Given the description of an element on the screen output the (x, y) to click on. 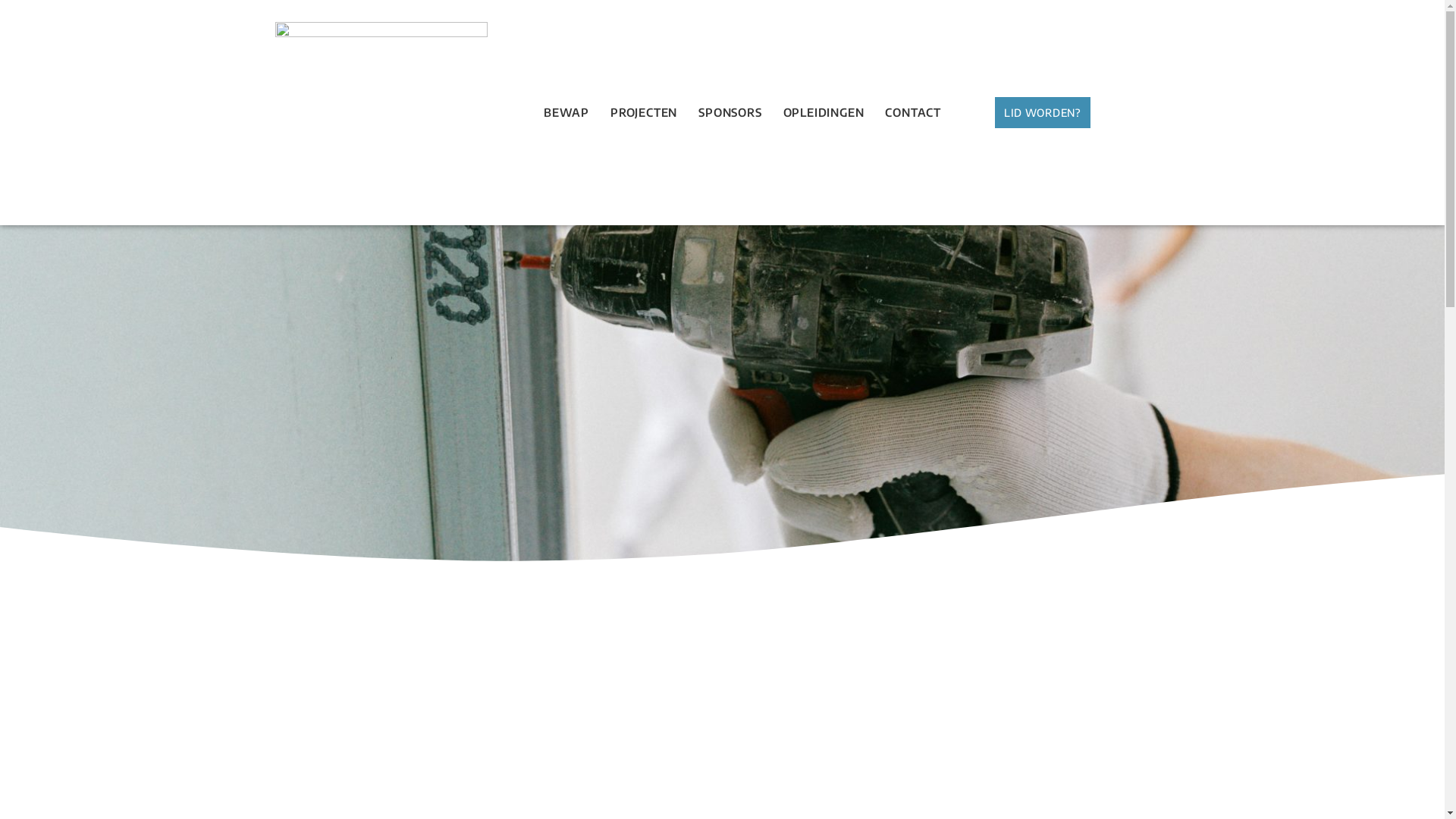
BEWAP Element type: text (566, 112)
CONTACT Element type: text (912, 112)
PROJECTEN Element type: text (643, 112)
OPLEIDINGEN Element type: text (823, 112)
LID WORDEN? Element type: text (1042, 112)
SPONSORS Element type: text (729, 112)
